Given the description of an element on the screen output the (x, y) to click on. 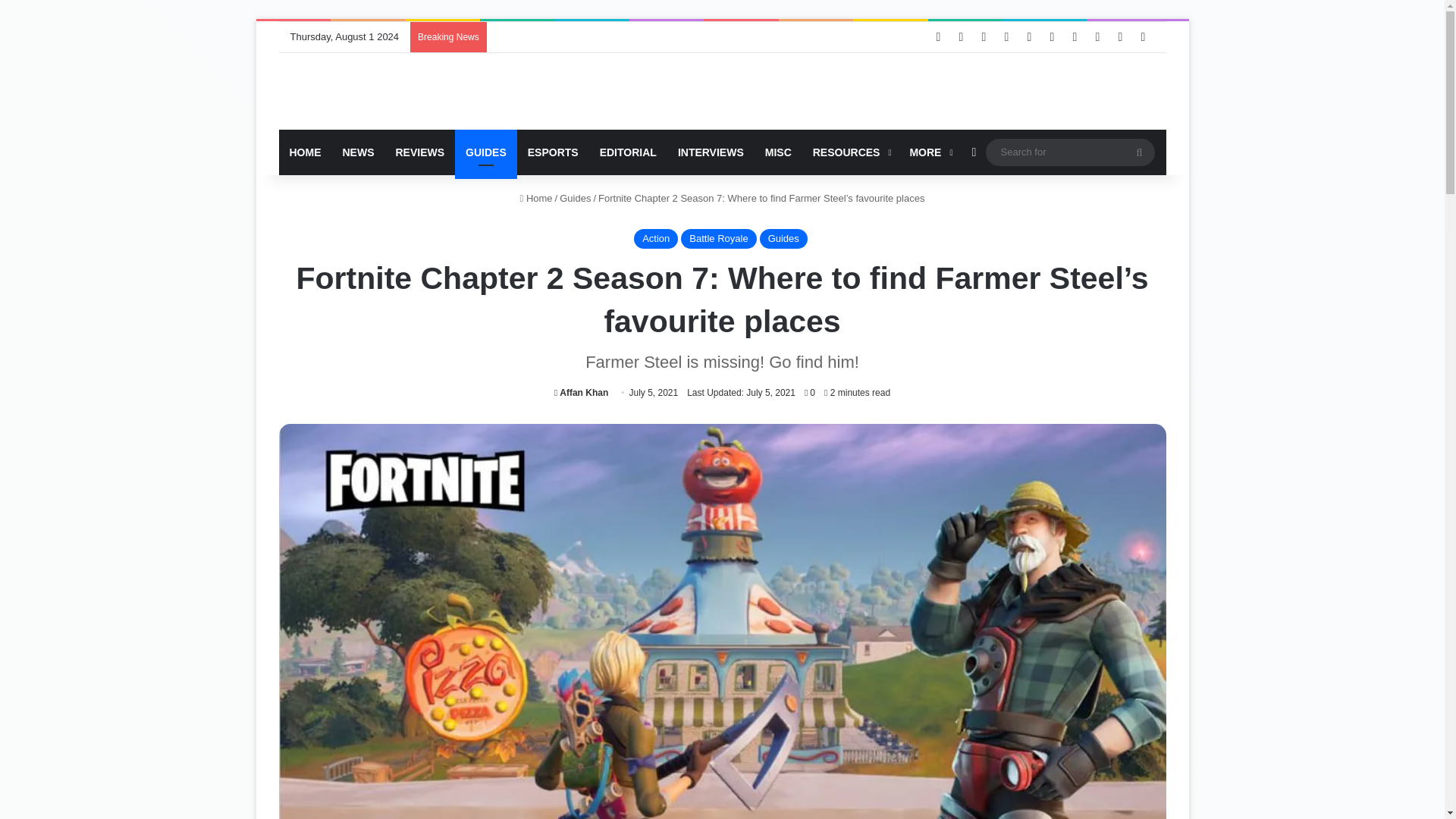
GUIDES (485, 152)
MORE (928, 152)
RESOURCES (850, 152)
Affan Khan (581, 392)
EDITORIAL (627, 152)
HOME (305, 152)
Search for (1069, 151)
NEWS (358, 152)
REVIEWS (420, 152)
ESPORTS (552, 152)
MISC (778, 152)
INTERVIEWS (710, 152)
